Given the description of an element on the screen output the (x, y) to click on. 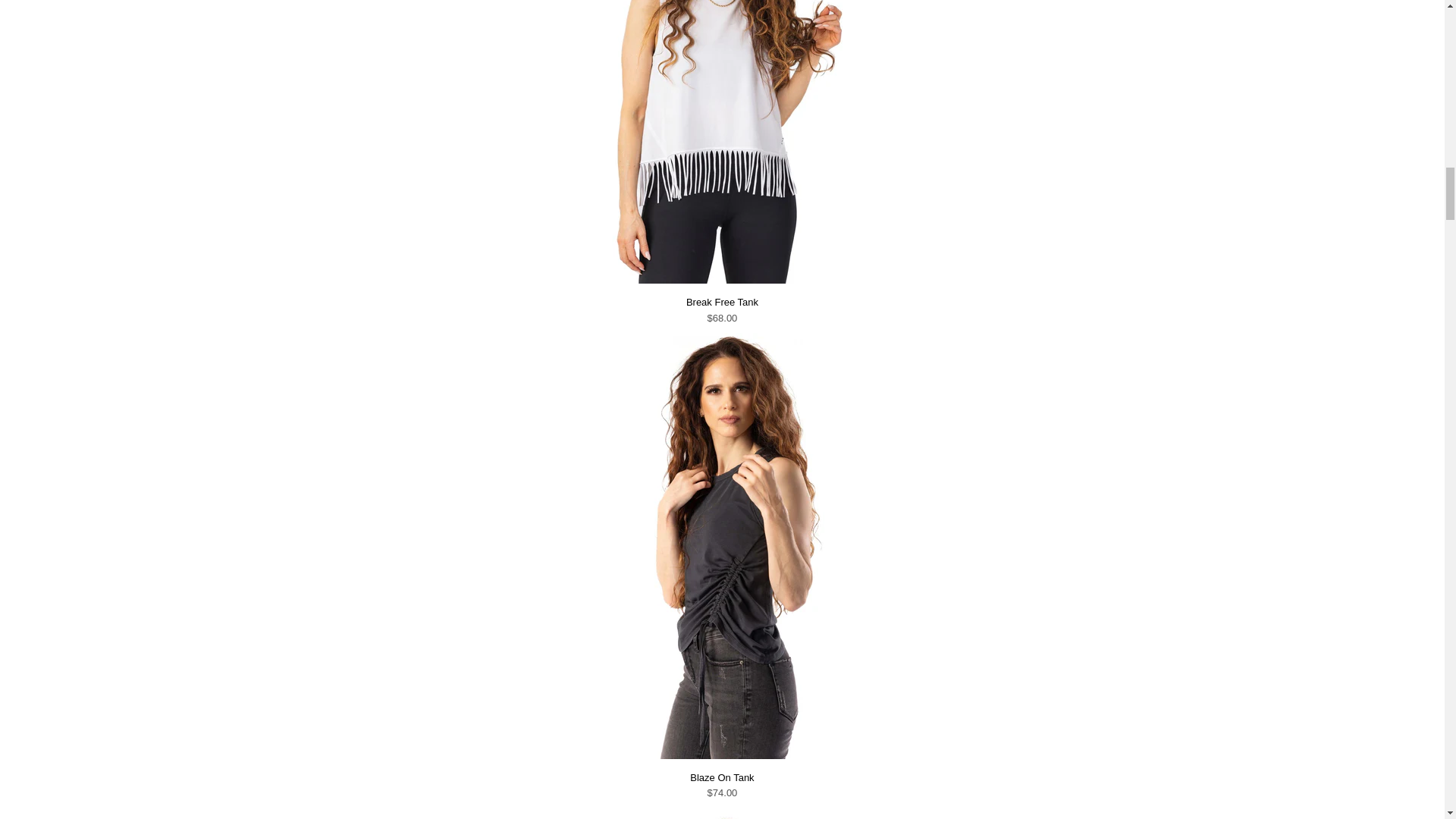
Blaze On Tank (721, 755)
Break Free Tank (721, 279)
